Given the description of an element on the screen output the (x, y) to click on. 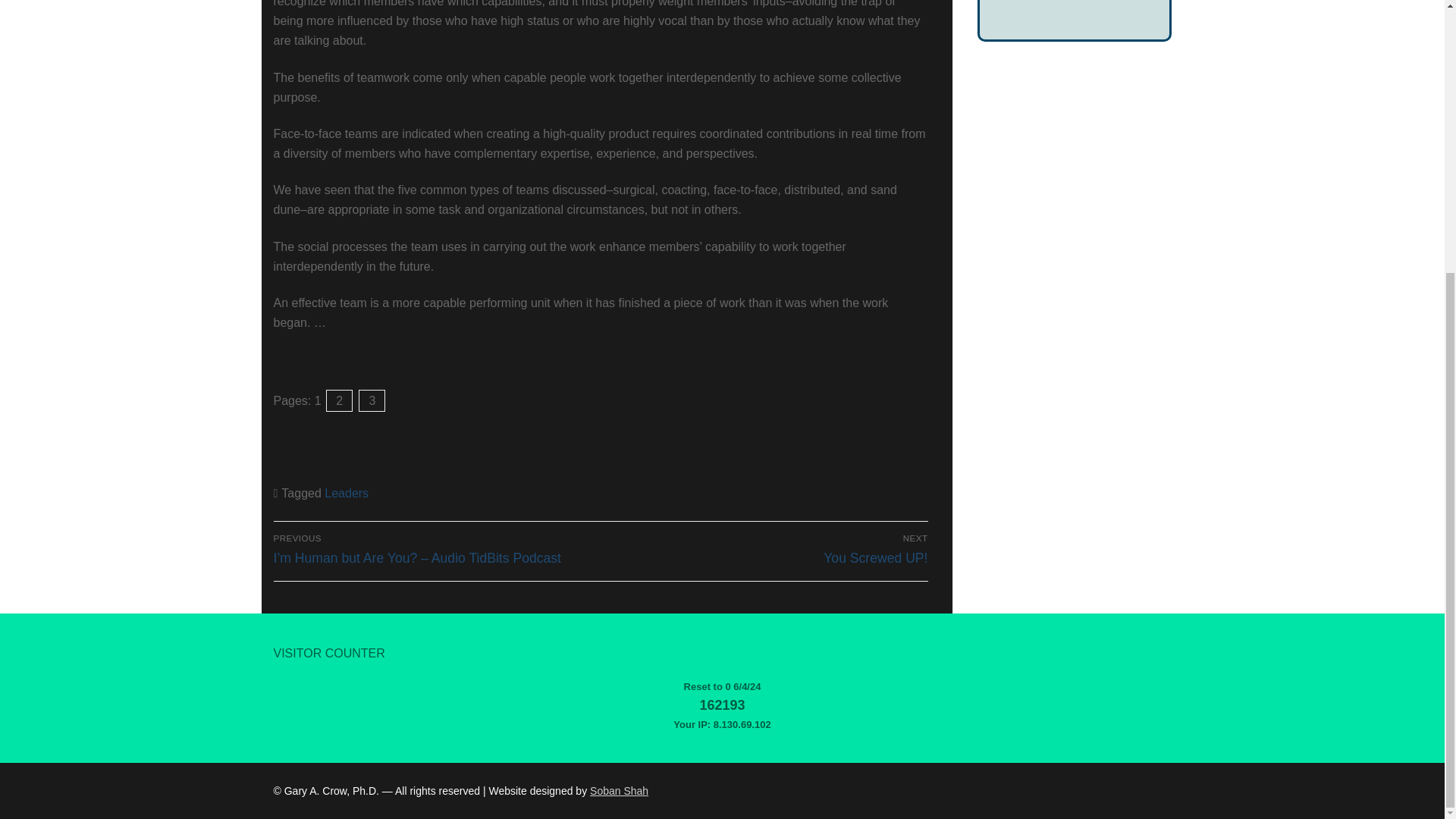
Soban Shah (618, 790)
Leaders (767, 549)
2 (346, 492)
3 (339, 400)
